Given the description of an element on the screen output the (x, y) to click on. 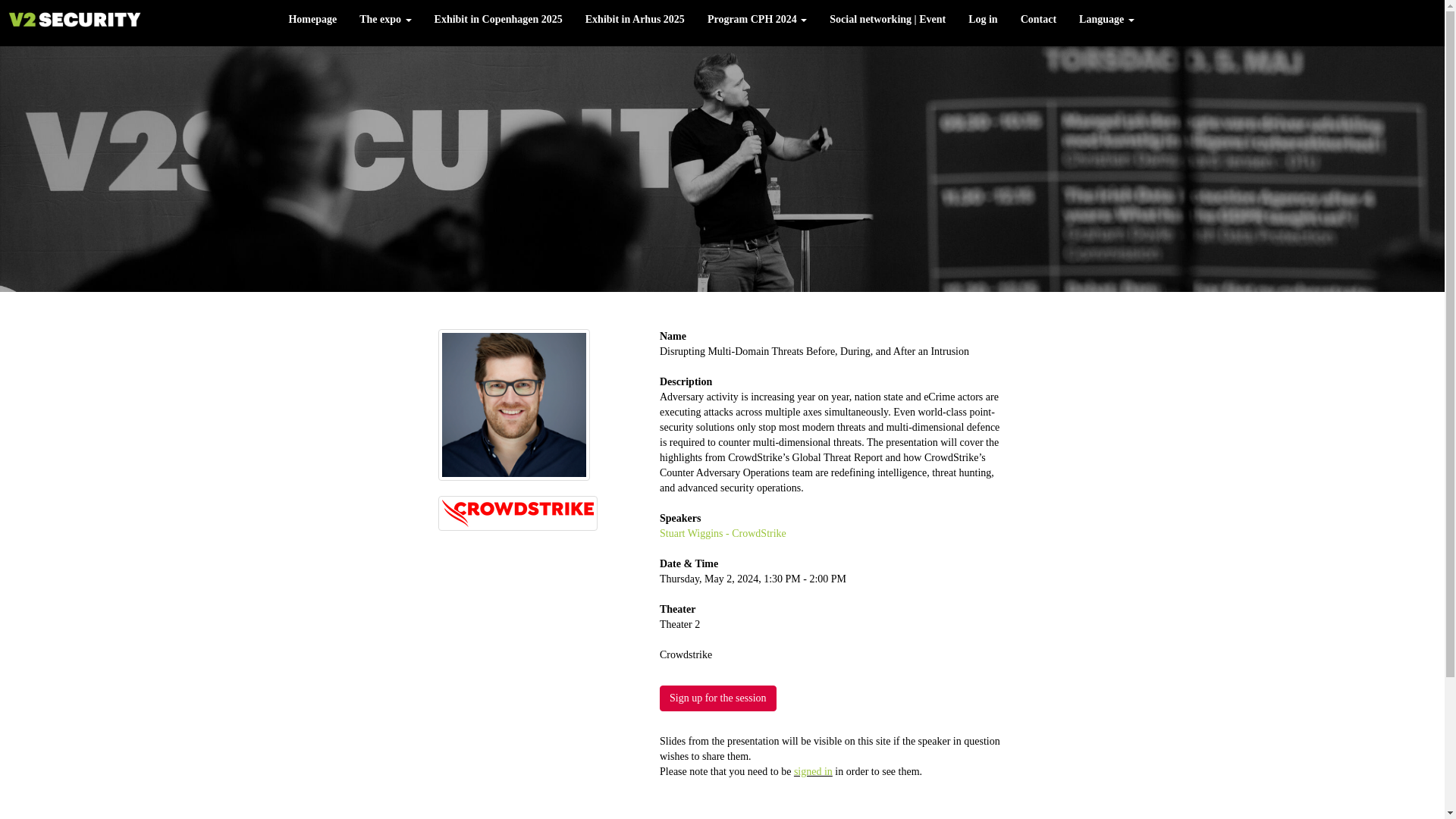
Speaker Details (722, 532)
Contact (1038, 19)
Log in (982, 19)
Exhibit in Copenhagen 2025 (498, 19)
Language (1106, 19)
Exhibit in Arhus 2025 (634, 19)
Program CPH 2024 (756, 19)
The expo (384, 19)
Homepage (311, 19)
